Given the description of an element on the screen output the (x, y) to click on. 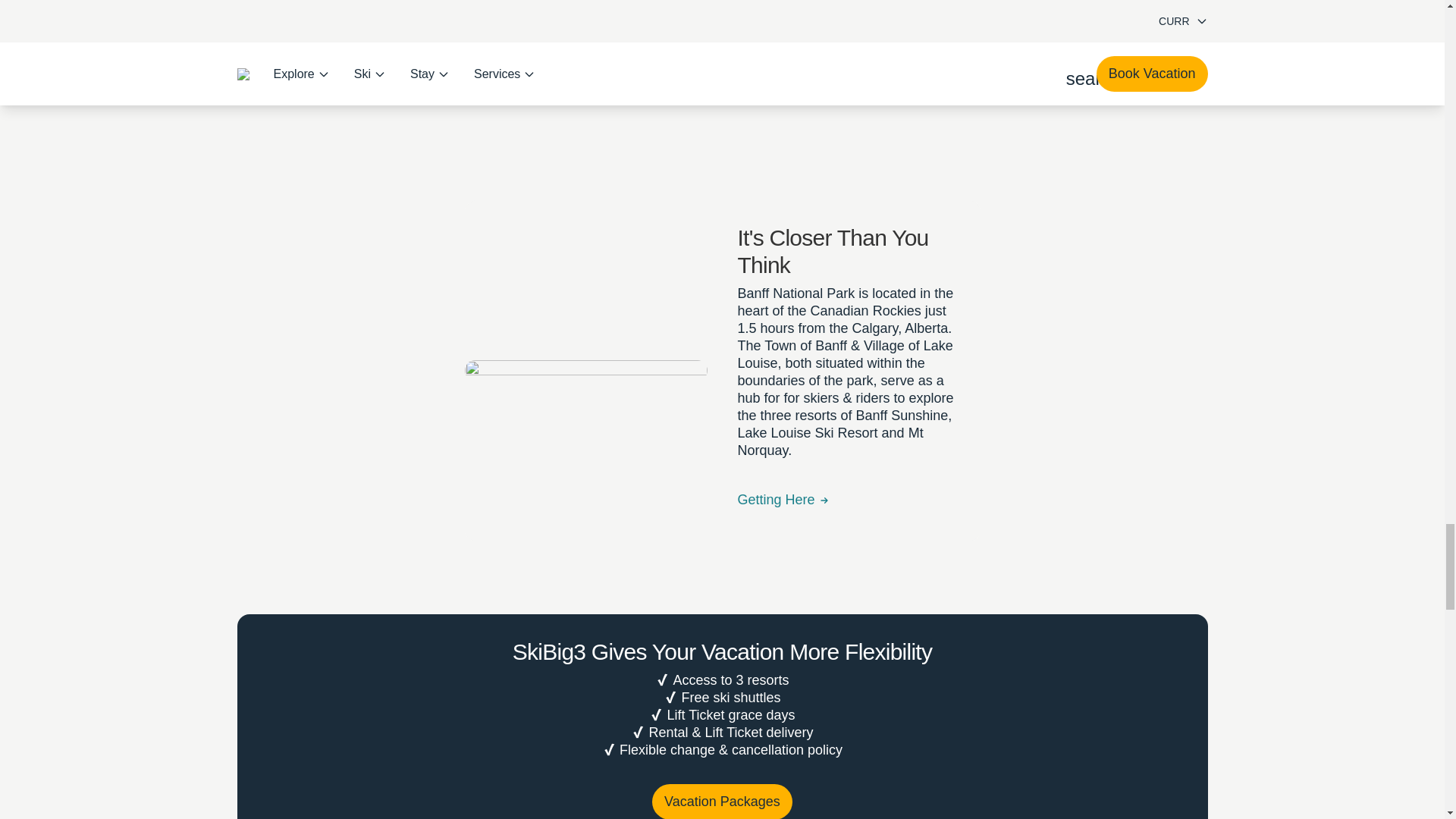
Getting Here (782, 500)
Vacation Packages (722, 801)
Vacation Packages (722, 801)
Getting Here (782, 500)
